Given the description of an element on the screen output the (x, y) to click on. 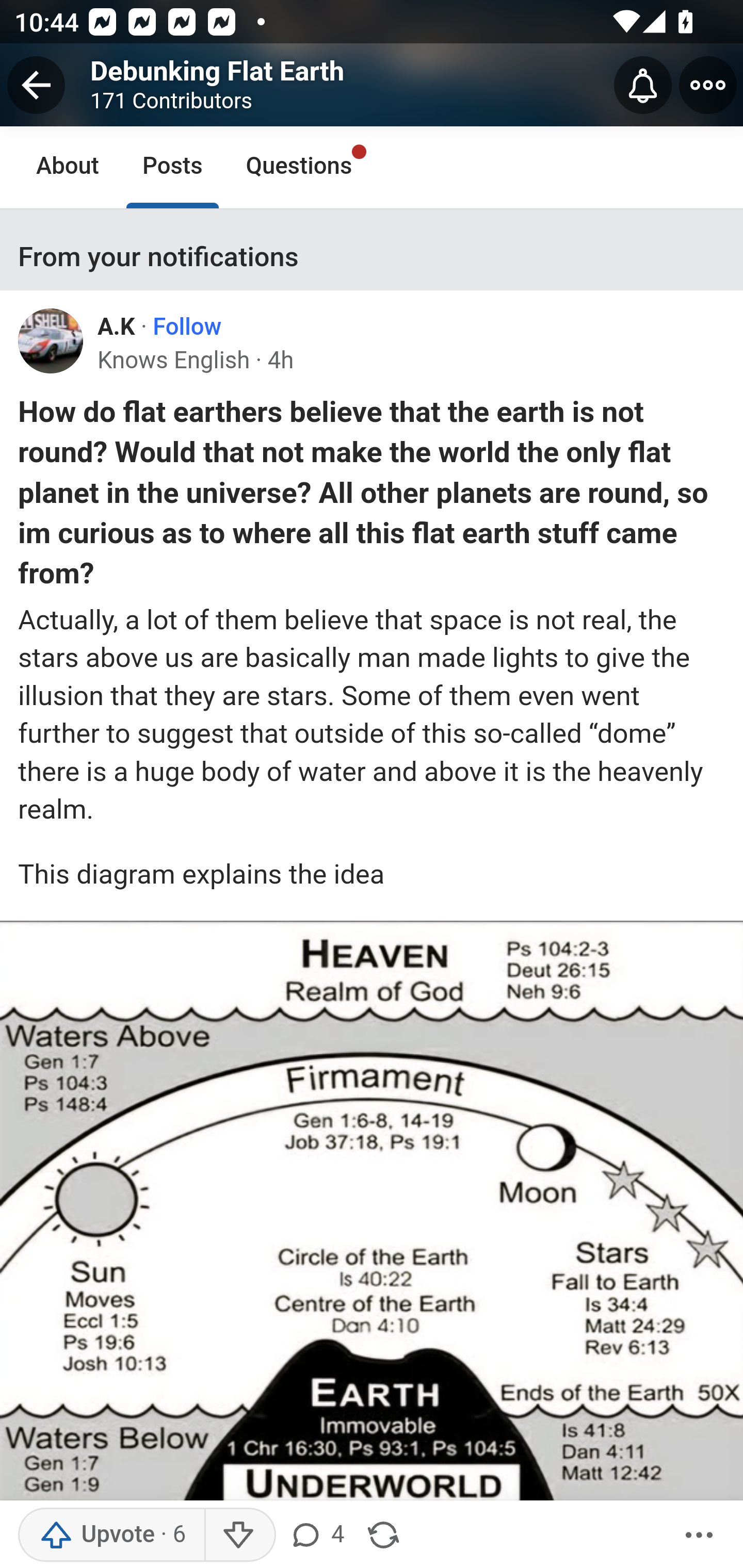
Me Notifications Search (371, 82)
About (68, 166)
Posts (171, 166)
Questions (299, 166)
Profile photo for A.K (50, 341)
A.K (116, 327)
Follow (186, 327)
4h 4 h (280, 360)
Upvote (111, 1534)
Downvote (238, 1534)
4 comments (315, 1534)
Share (383, 1534)
More (699, 1534)
